Given the description of an element on the screen output the (x, y) to click on. 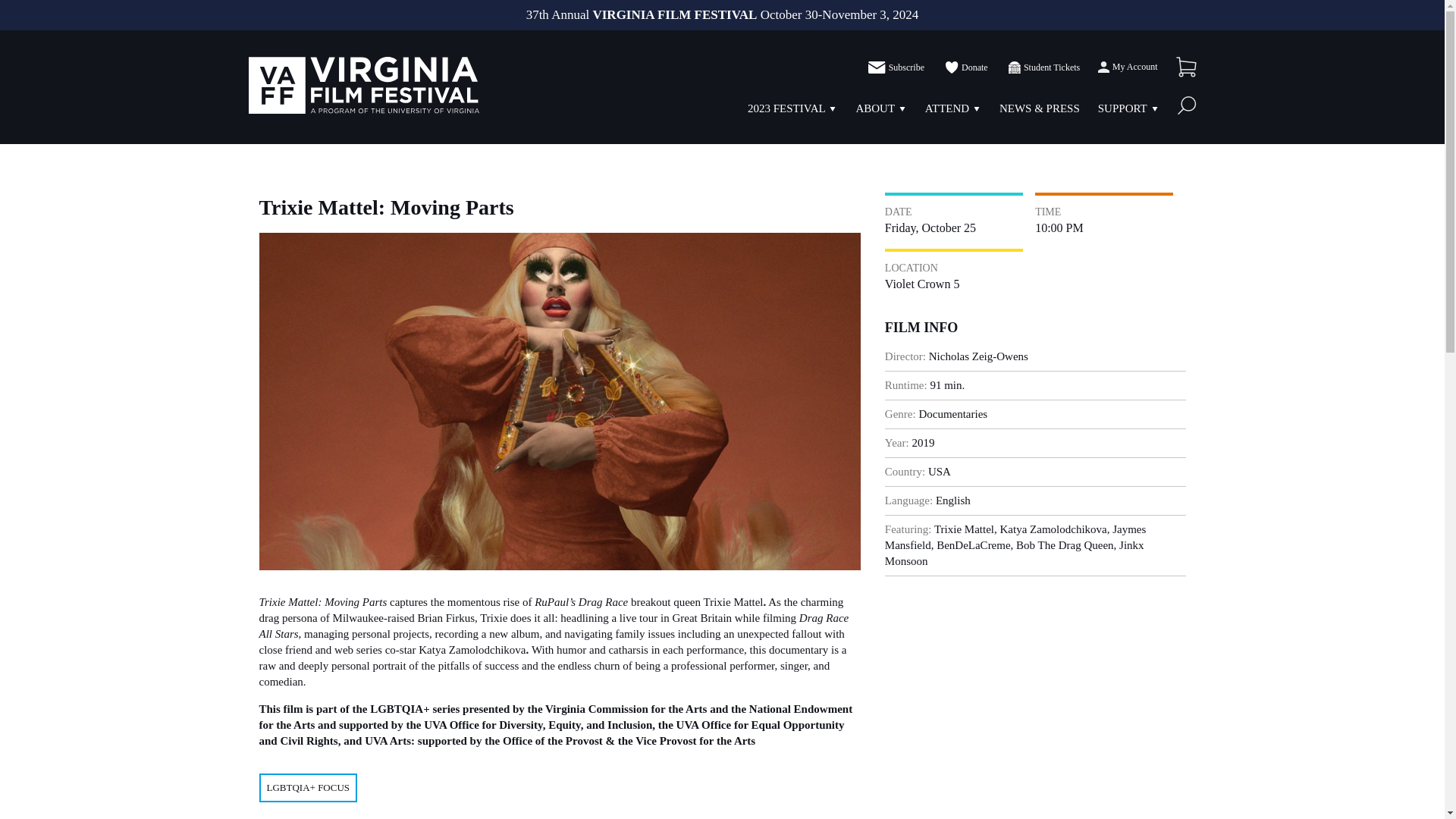
SUPPORT (1122, 108)
Donate (965, 67)
Student Tickets (1043, 67)
ATTEND (946, 108)
My Account (1127, 66)
2023 FESTIVAL (786, 108)
VIRGINIA FILM FESTIVAL (364, 84)
Subscribe (895, 67)
ABOUT (875, 108)
